Given the description of an element on the screen output the (x, y) to click on. 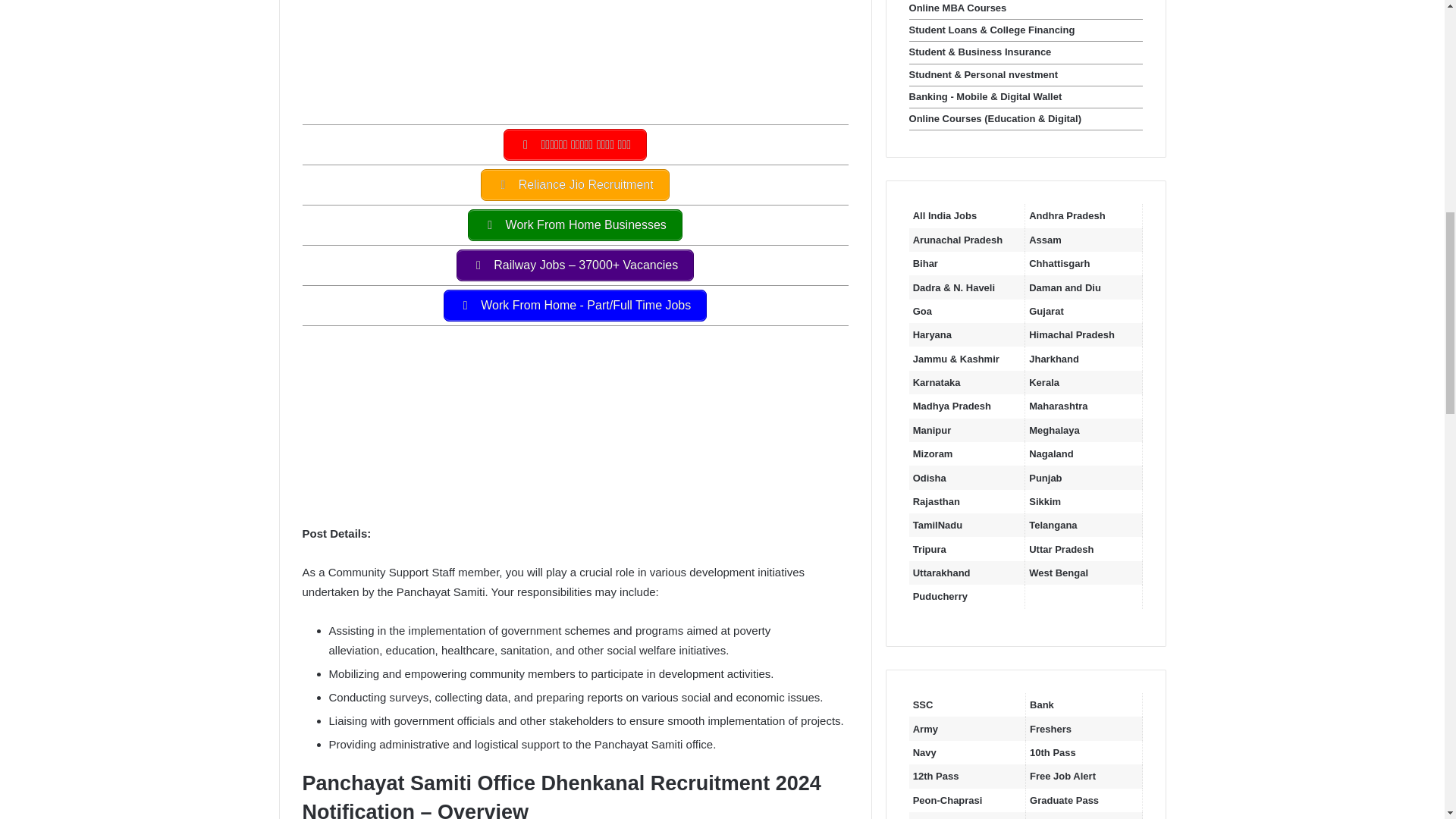
Online MBA Courses (957, 7)
Work From Home Businesses (574, 224)
Reliance Jio Recruitment (574, 184)
